Given the description of an element on the screen output the (x, y) to click on. 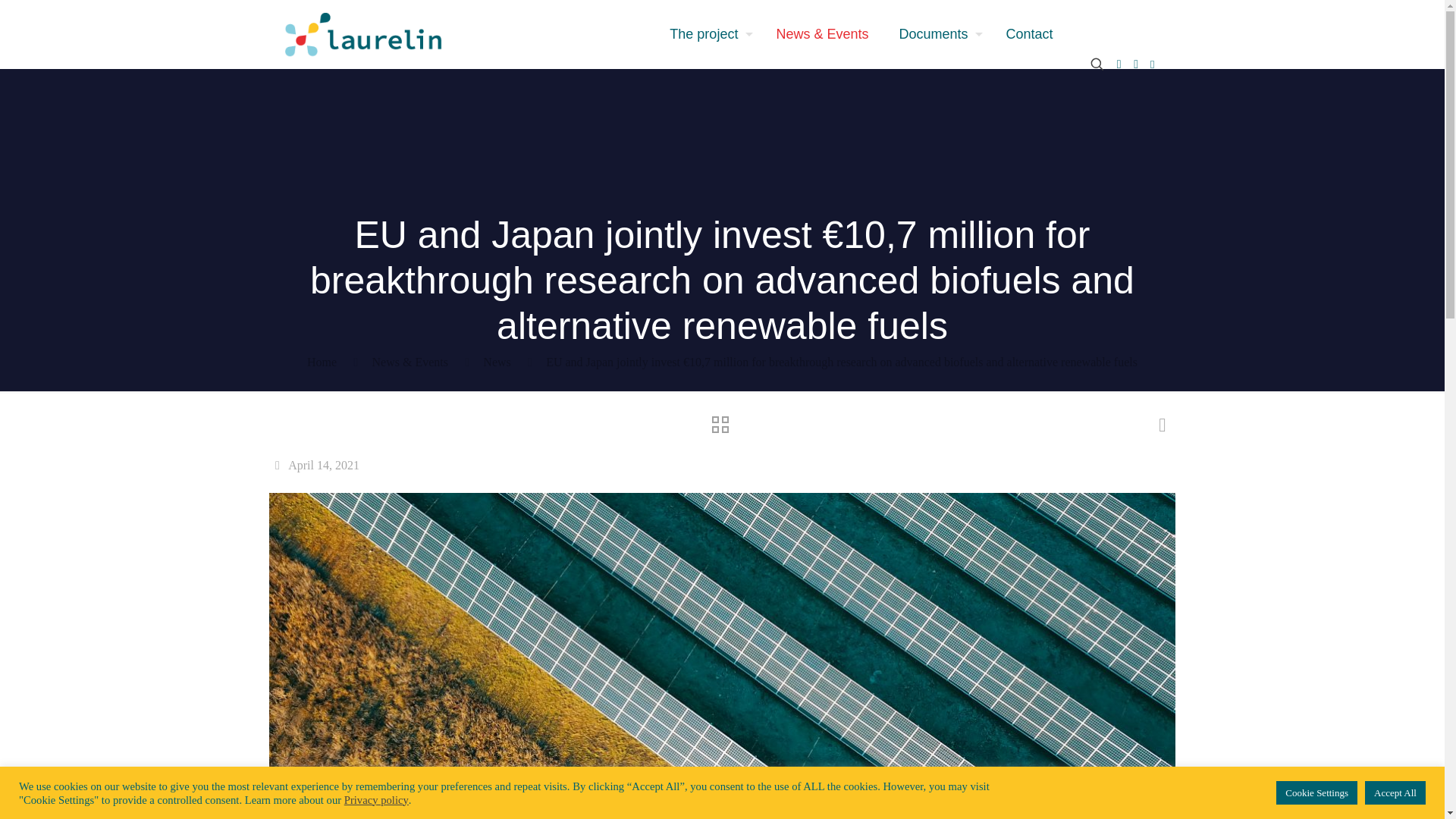
Laurelin (362, 33)
Documents (936, 33)
Contact (1028, 33)
The project (706, 33)
LinkedIn (1135, 63)
Newsletter (1152, 63)
Home (321, 361)
News (497, 361)
Twitter (1118, 63)
